Given the description of an element on the screen output the (x, y) to click on. 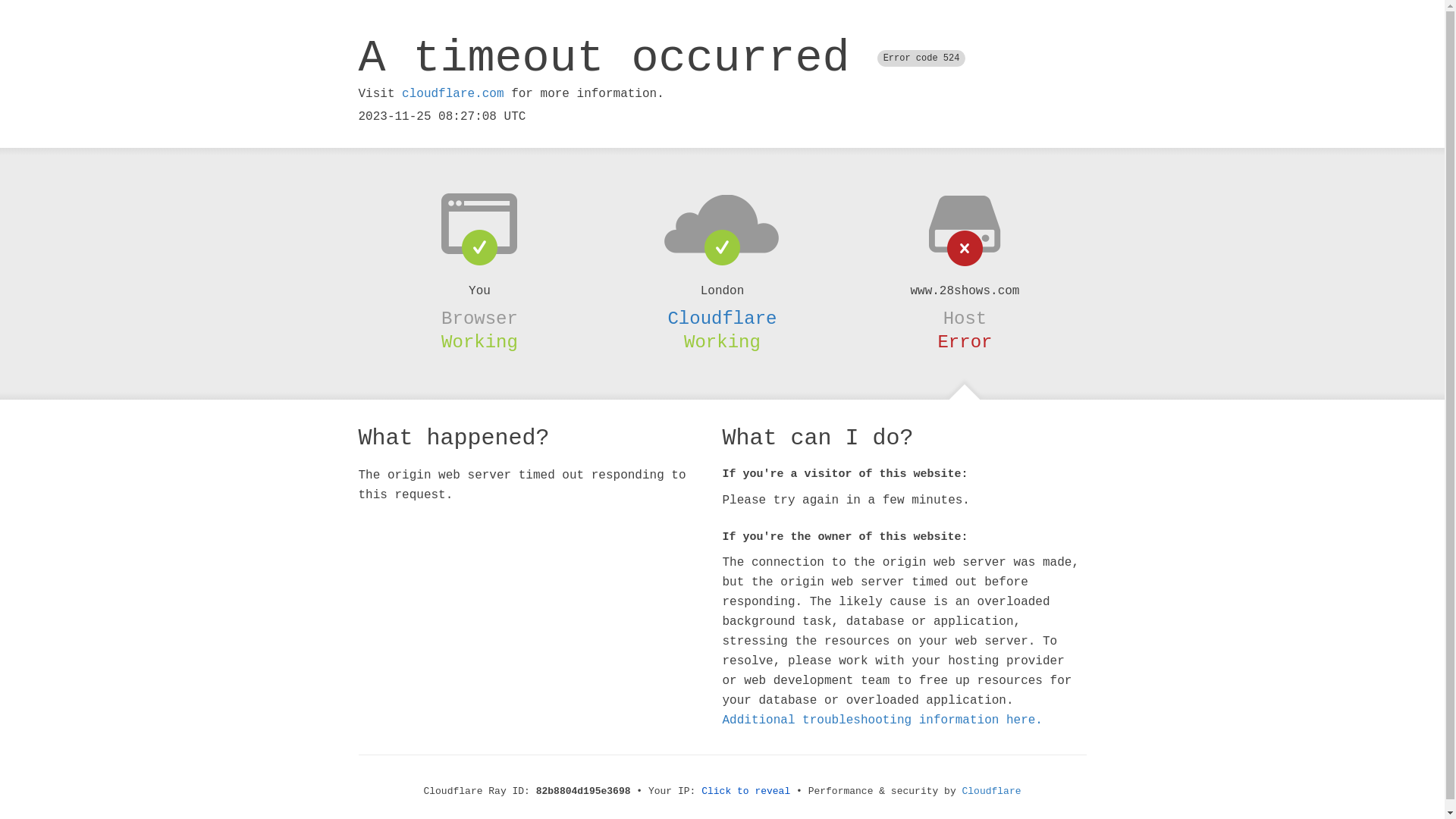
Cloudflare Element type: text (991, 791)
cloudflare.com Element type: text (452, 93)
Cloudflare Element type: text (721, 318)
Click to reveal Element type: text (745, 791)
Additional troubleshooting information here. Element type: text (881, 720)
